Given the description of an element on the screen output the (x, y) to click on. 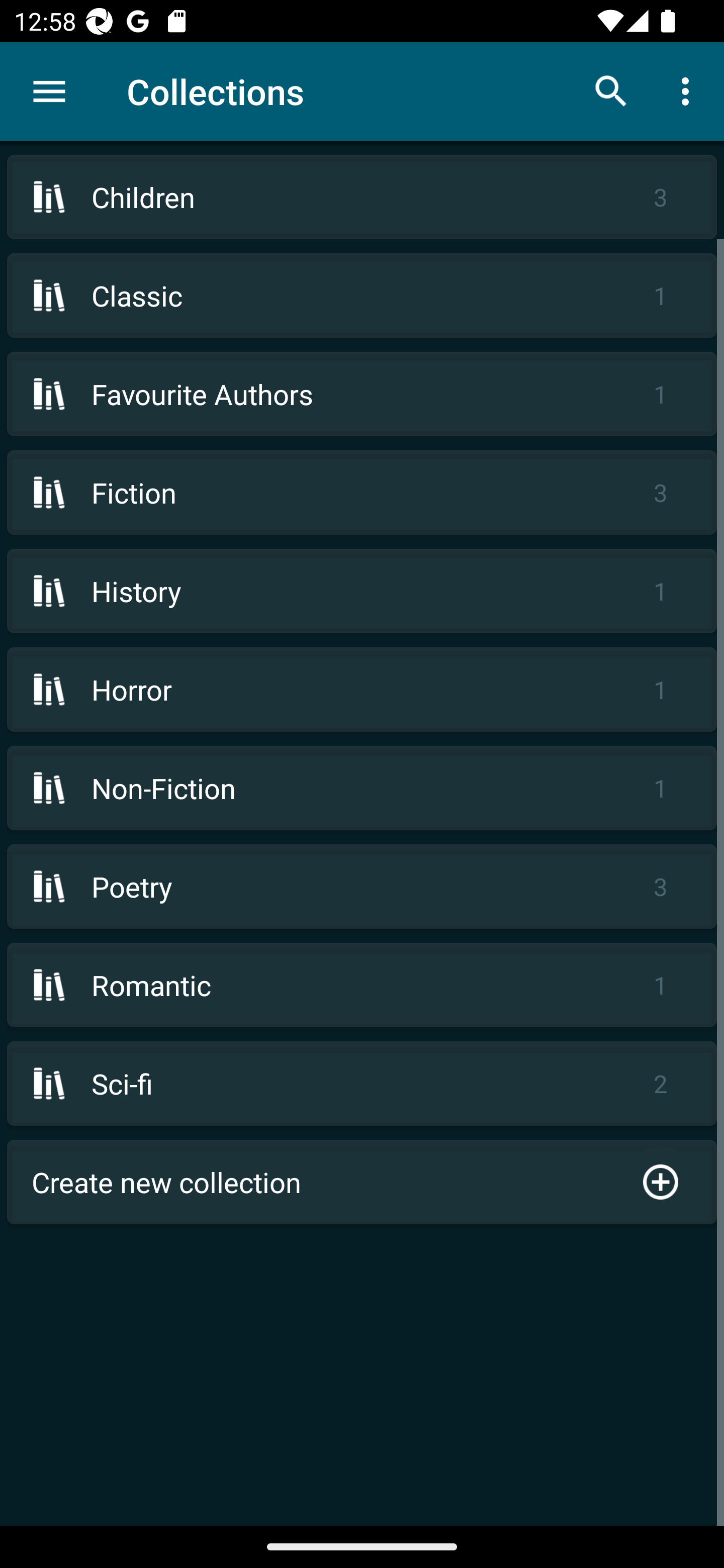
Menu (49, 91)
Search books & documents (611, 90)
More options (688, 90)
Children 3 (361, 197)
Classic 1 (361, 295)
Favourite Authors 1 (361, 393)
Fiction 3 (361, 492)
History 1 (361, 590)
Horror 1 (361, 689)
Non-Fiction 1 (361, 787)
Poetry 3 (361, 885)
Romantic 1 (361, 984)
Sci-fi 2 (361, 1083)
Create new collection (361, 1181)
